Given the description of an element on the screen output the (x, y) to click on. 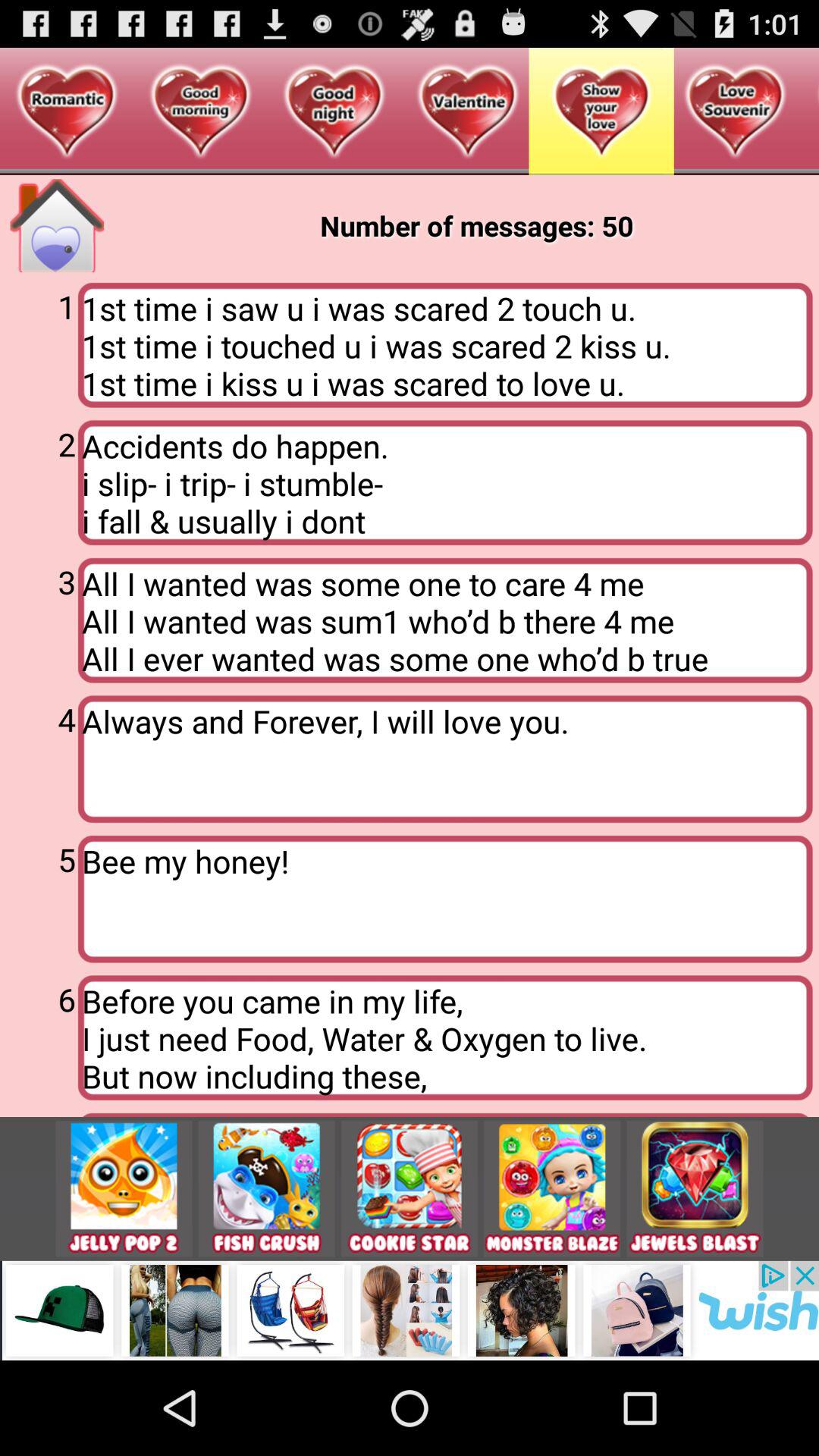
game icon (266, 1188)
